Given the description of an element on the screen output the (x, y) to click on. 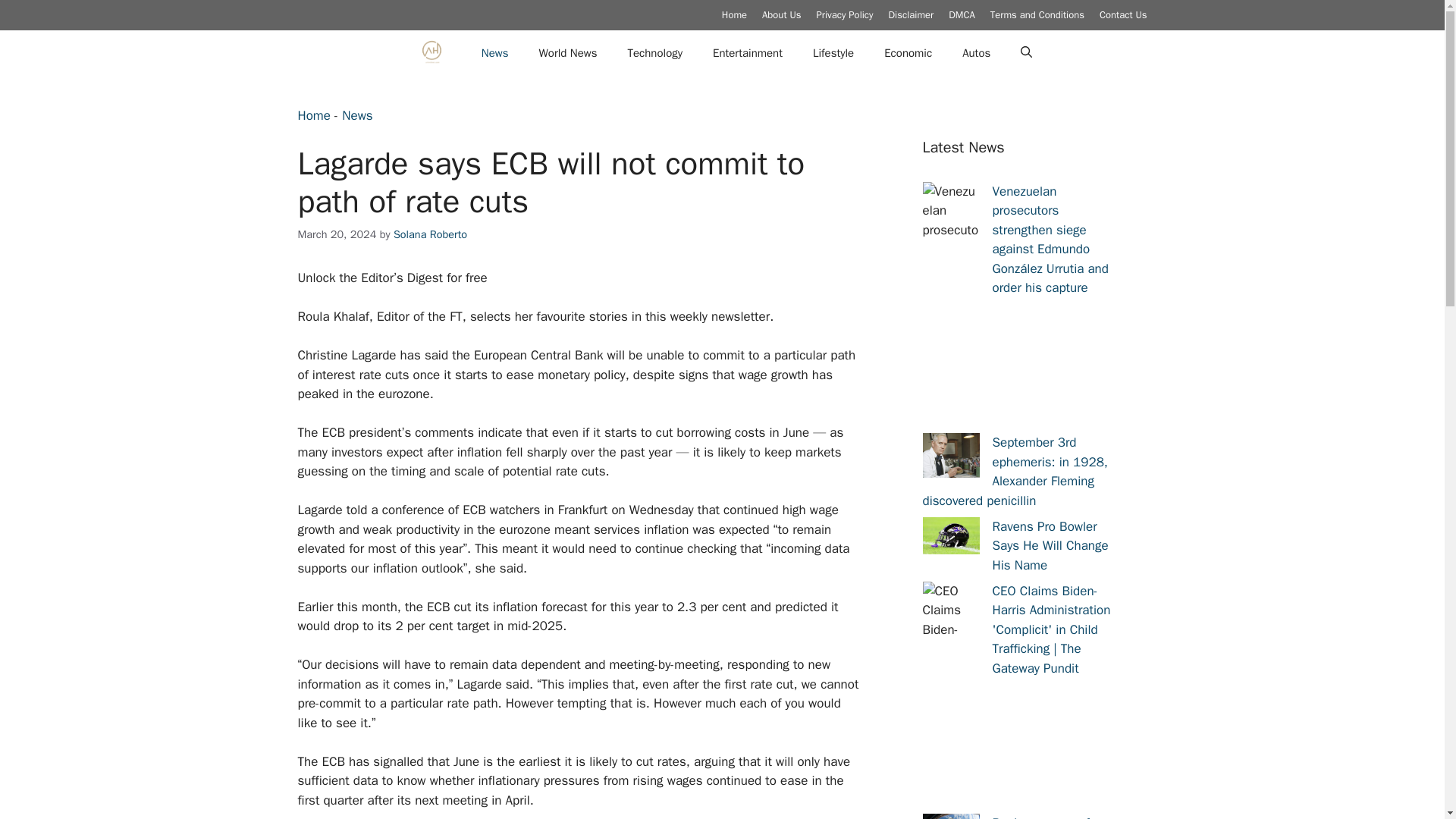
Ravens Pro Bowler Says He Will Change His Name (1049, 545)
Privacy Policy (843, 14)
Lifestyle (833, 53)
News (494, 53)
Entertainment (747, 53)
About Us (780, 14)
